Given the description of an element on the screen output the (x, y) to click on. 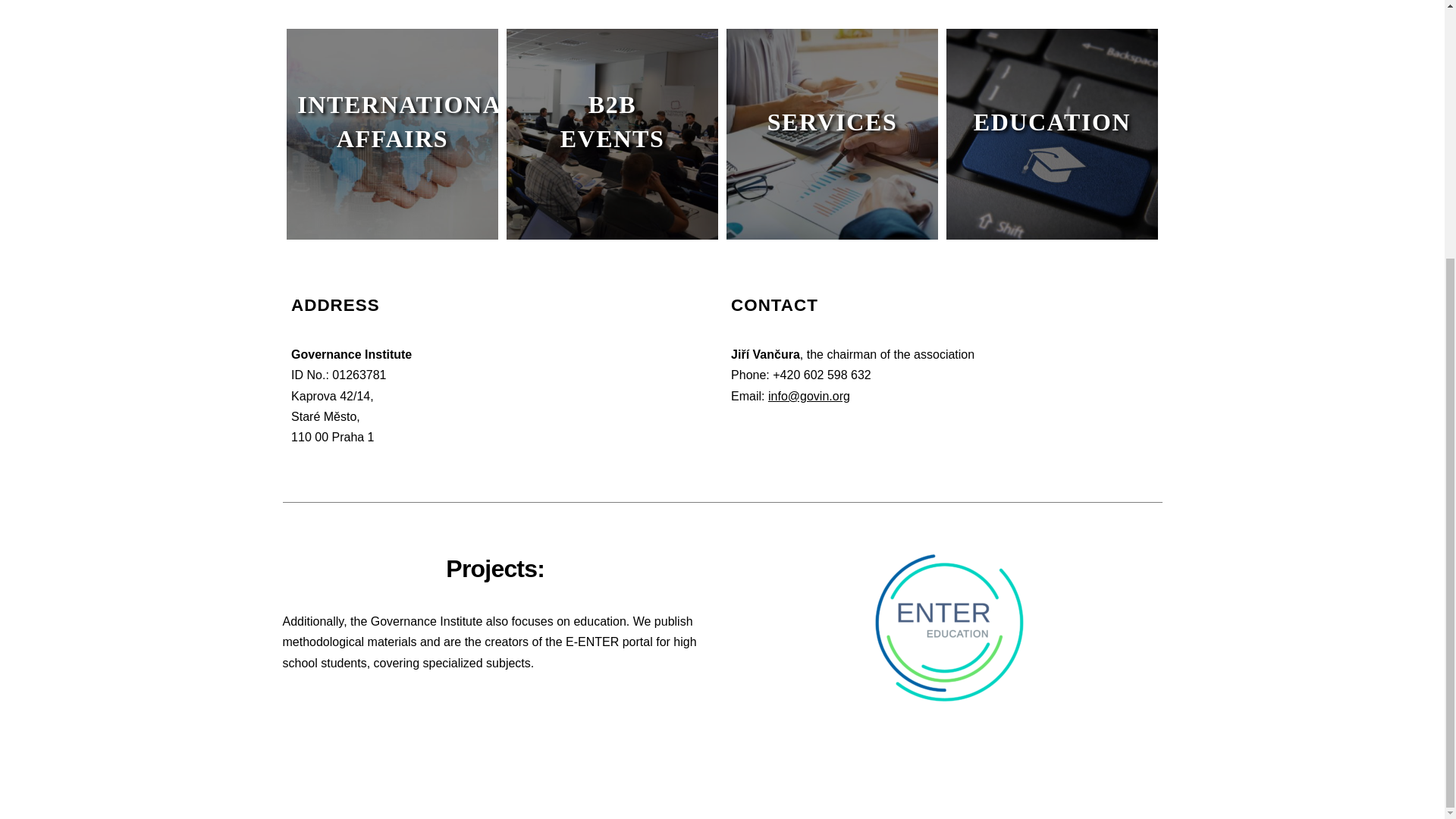
Link (948, 627)
International Affairs (391, 133)
Services (831, 133)
Education (1051, 133)
